Given the description of an element on the screen output the (x, y) to click on. 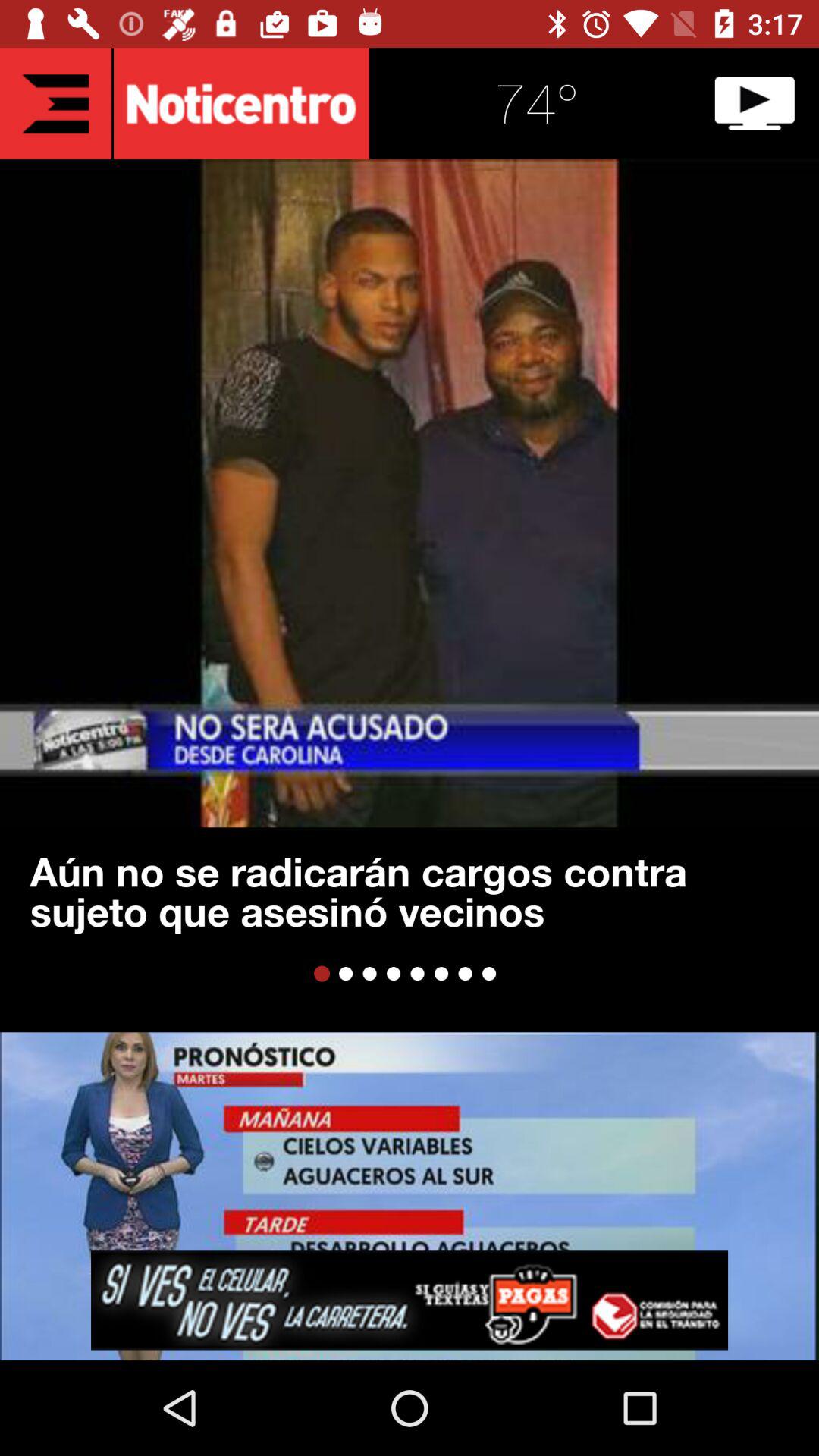
click the play button (754, 103)
